Given the description of an element on the screen output the (x, y) to click on. 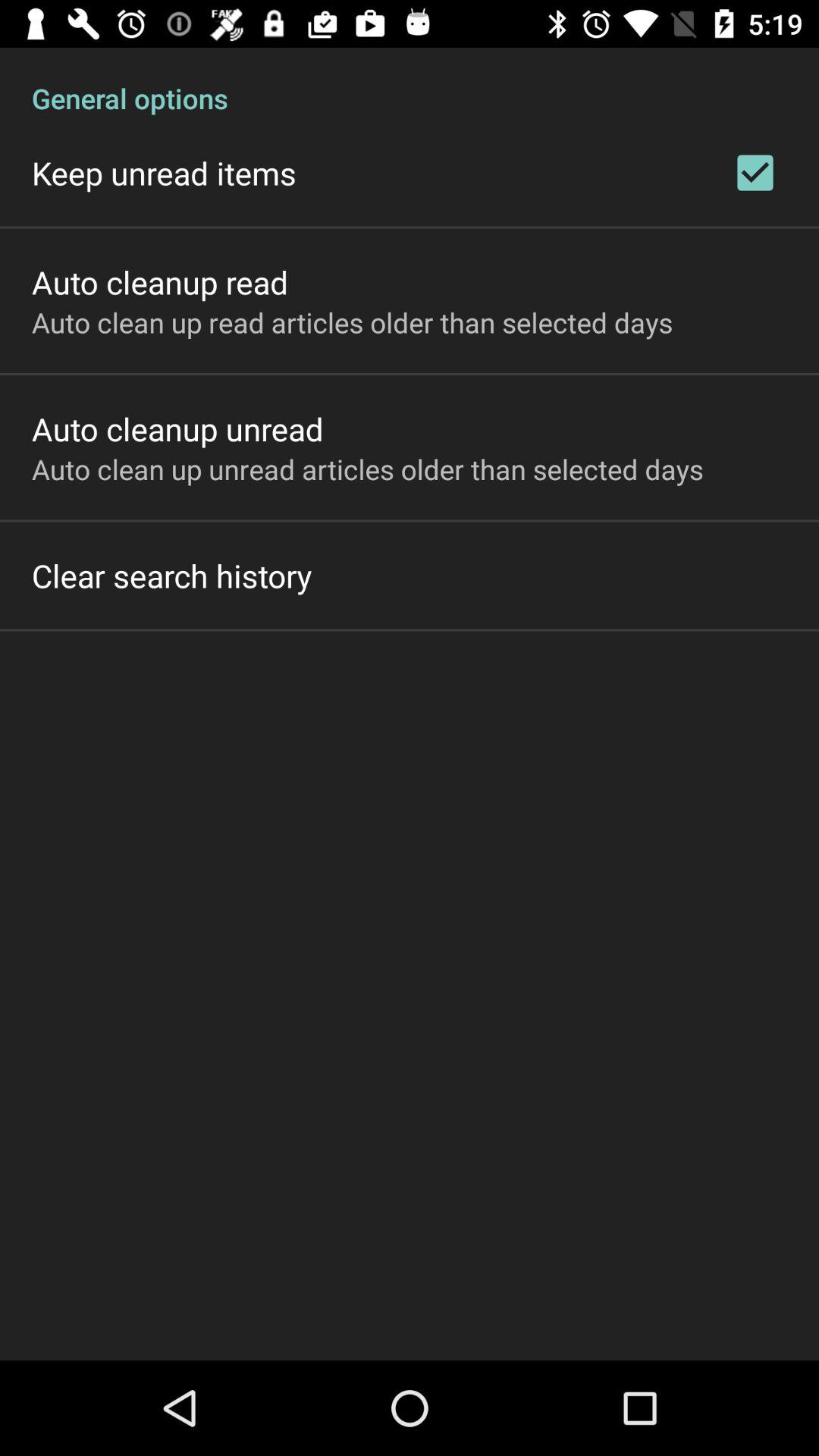
jump until the clear search history item (171, 575)
